Given the description of an element on the screen output the (x, y) to click on. 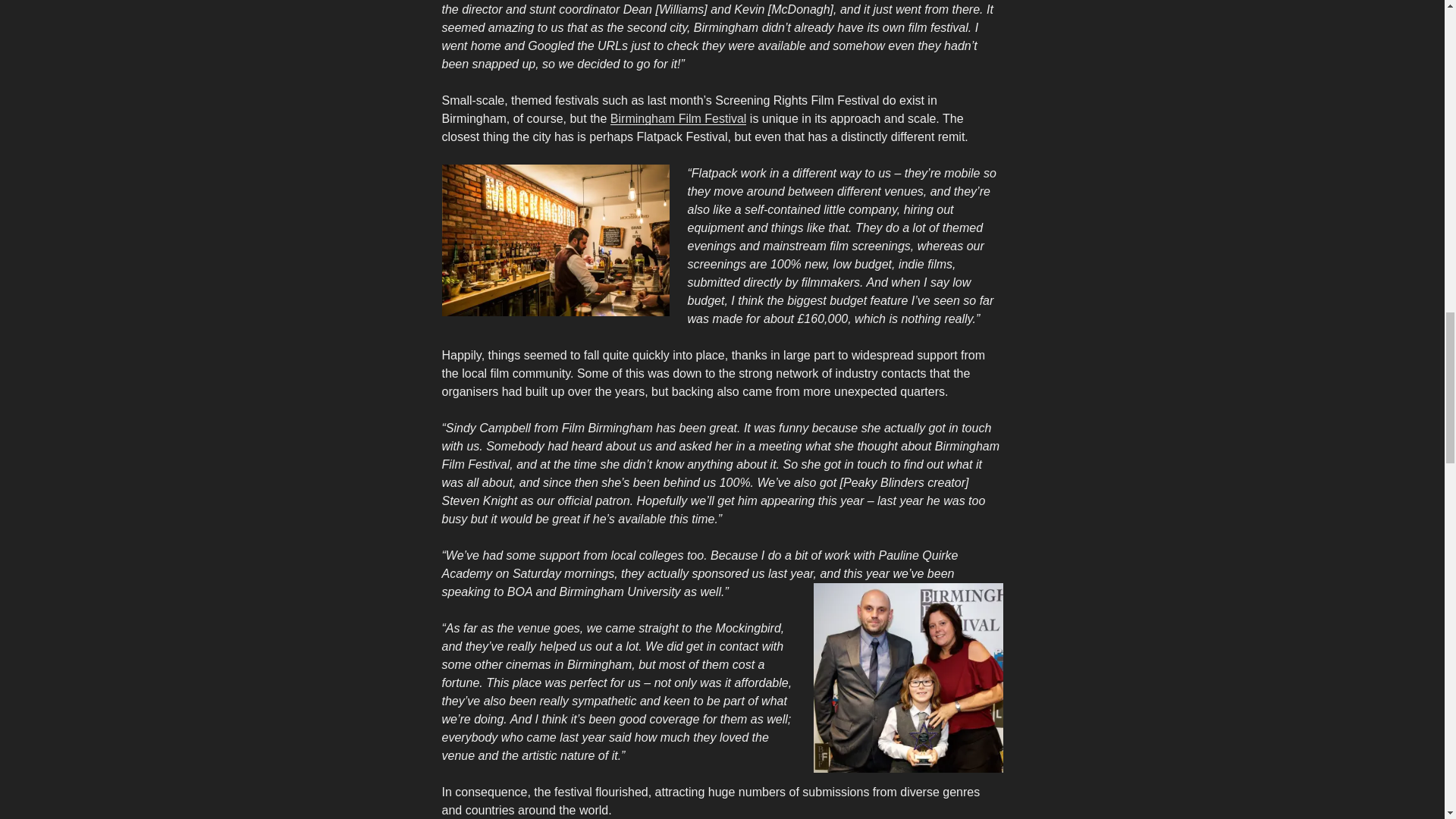
Birmingham Film Festival (678, 118)
